Given the description of an element on the screen output the (x, y) to click on. 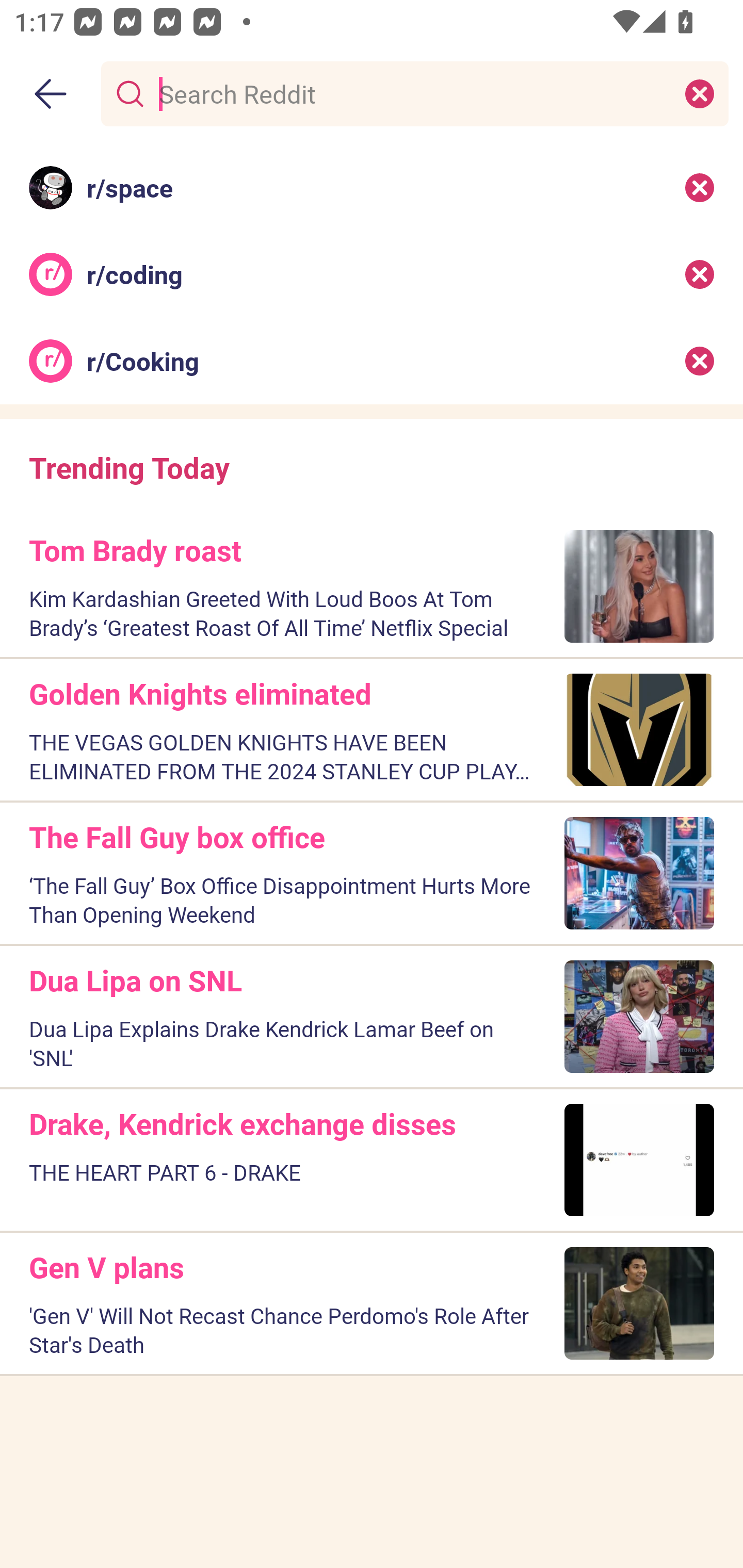
Back (50, 93)
Search Reddit (410, 93)
Clear search (699, 93)
r/space Recent search: r/space Remove (371, 187)
Remove (699, 187)
r/coding Recent search: r/coding Remove (371, 274)
Remove (699, 274)
r/Cooking Recent search: r/Cooking Remove (371, 361)
Remove (699, 361)
